Given the description of an element on the screen output the (x, y) to click on. 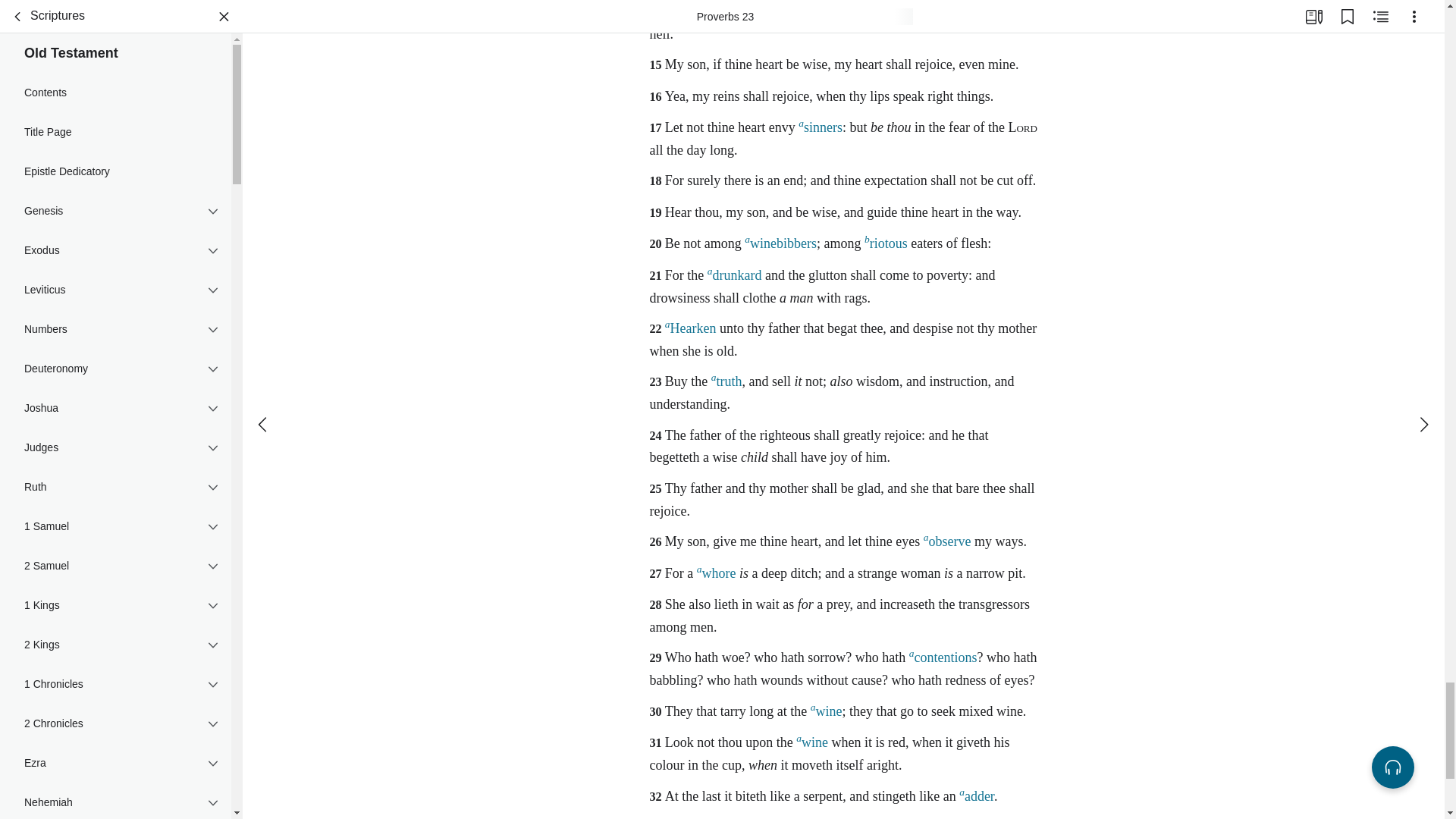
Proverbs 11 (115, 515)
Proverbs 7 (115, 406)
Proverbs 2 (115, 269)
Proverbs 6 (115, 379)
Proverbs 3 (115, 297)
Proverbs 8 (115, 433)
Proverbs 1 (115, 242)
Proverbs 9 (115, 461)
Contents (115, 215)
Proverbs 14 (115, 596)
